Given the description of an element on the screen output the (x, y) to click on. 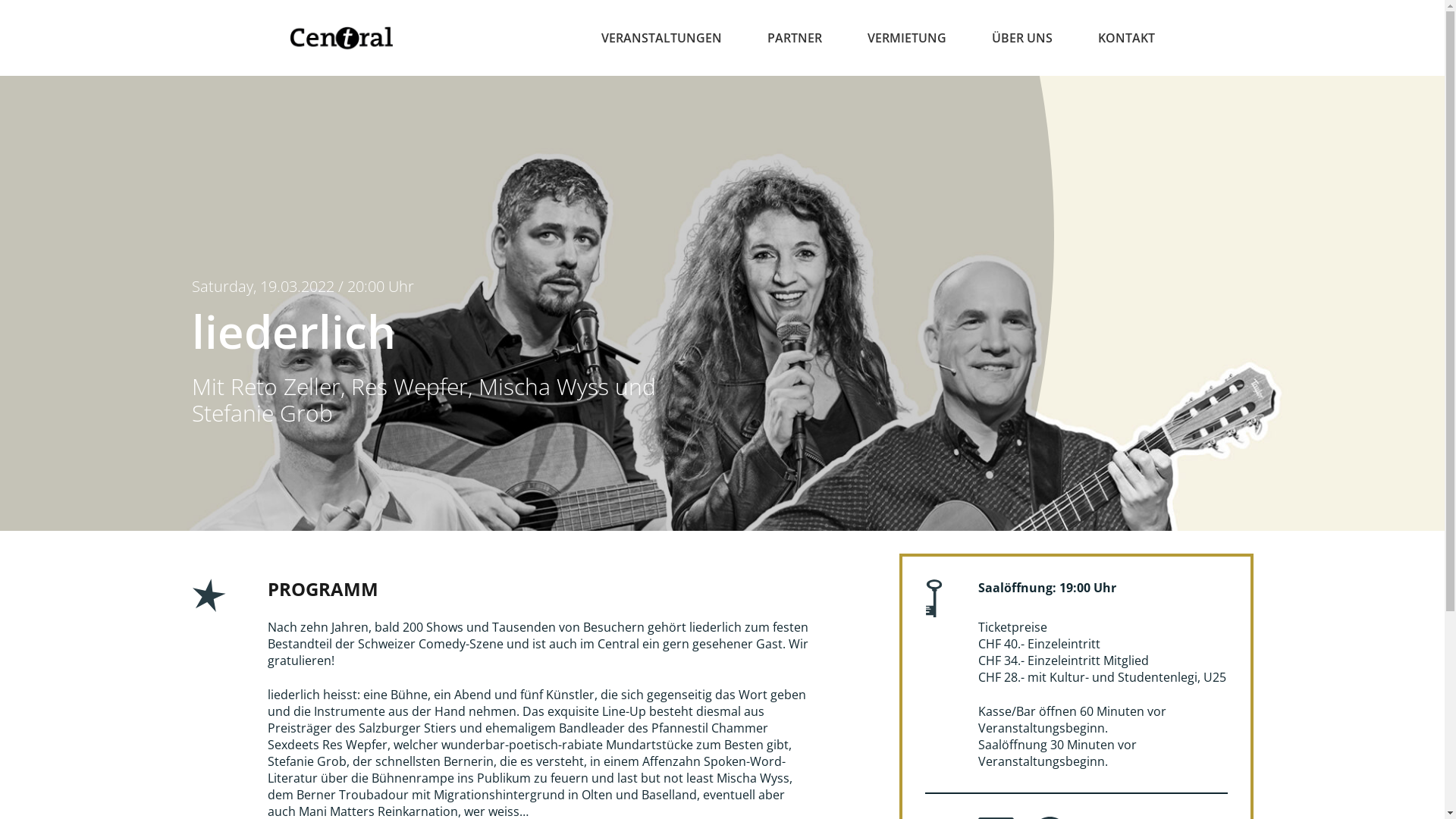
VERANSTALTUNGEN Element type: text (661, 37)
KONTAKT Element type: text (1126, 37)
VERMIETUNG Element type: text (906, 37)
PARTNER Element type: text (794, 37)
